Given the description of an element on the screen output the (x, y) to click on. 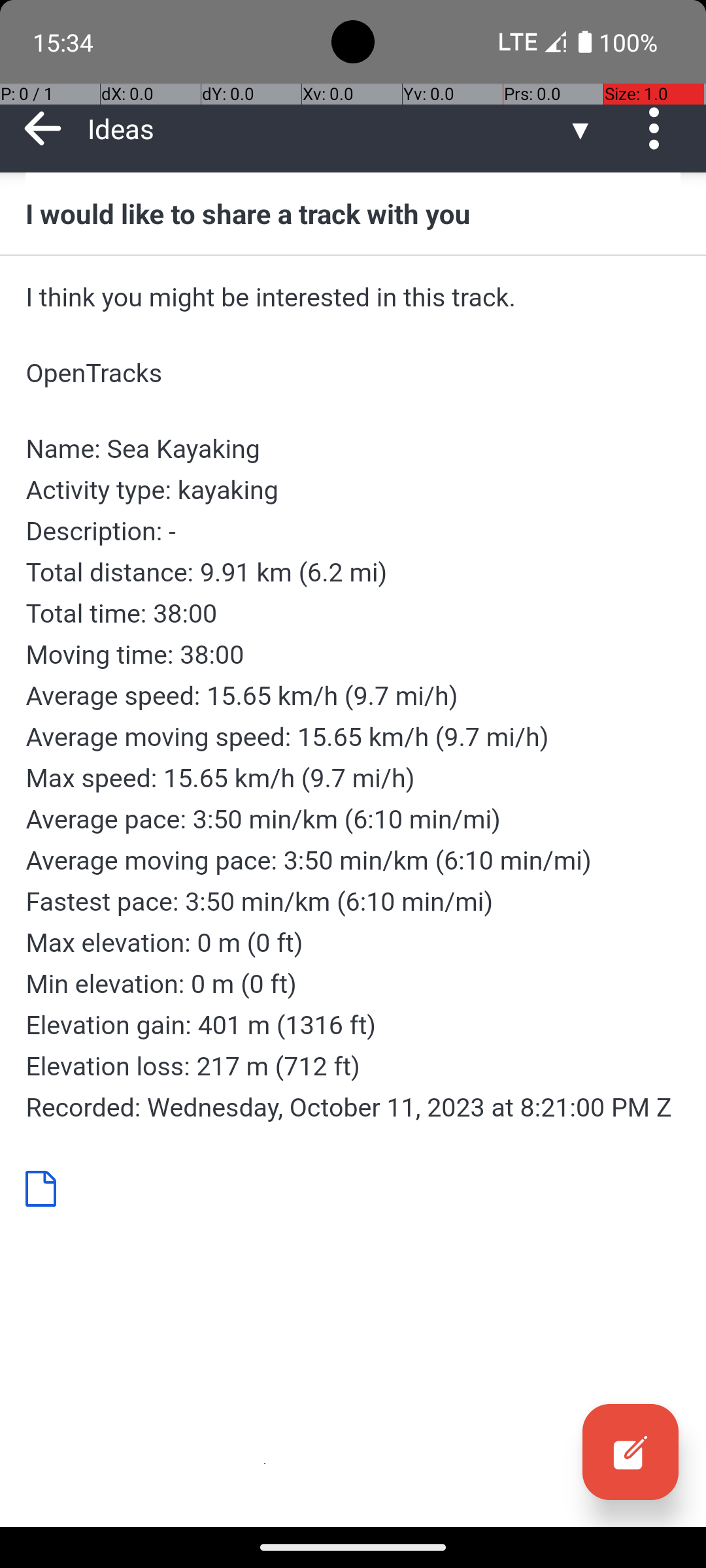
I would like to share a track with you Element type: android.widget.EditText (352, 213)
I think you might be interested in this track. Element type: android.widget.TextView (352, 296)
Name: Sea Kayaking
Activity type: kayaking
Description: -
Total distance: 9.91 km (6.2 mi)
Total time: 38:00
Moving time: 38:00
Average speed: 15.65 km/h (9.7 mi/h)
Average moving speed: 15.65 km/h (9.7 mi/h)
Max speed: 15.65 km/h (9.7 mi/h)
Average pace: 3:50 min/km (6:10 min/mi)
Average moving pace: 3:50 min/km (6:10 min/mi)
Fastest pace: 3:50 min/km (6:10 min/mi)
Max elevation: 0 m (0 ft)
Min elevation: 0 m (0 ft)
Elevation gain: 401 m (1316 ft)
Elevation loss: 217 m (712 ft)
Recorded: Wednesday, October 11, 2023 at 8:21:00 PM Z Element type: android.widget.TextView (352, 777)
NoteBodyViewer Element type: android.view.View (45, 1187)
